Given the description of an element on the screen output the (x, y) to click on. 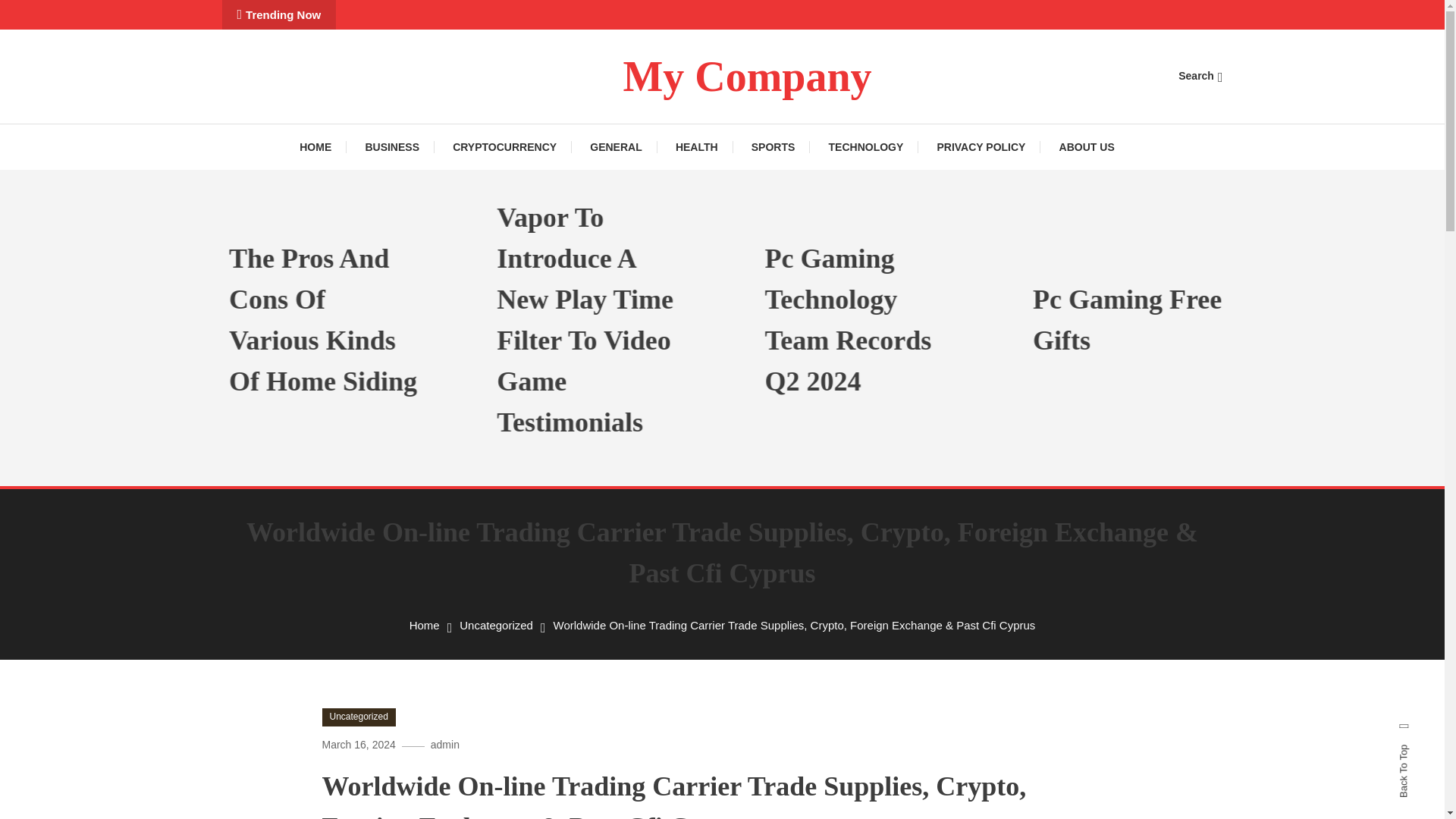
ABOUT US (1086, 146)
HEALTH (697, 146)
Home (424, 625)
GENERAL (615, 146)
BUSINESS (391, 146)
admin (445, 744)
Uncategorized (357, 717)
Uncategorized (496, 625)
My Company (746, 76)
Pc Gaming Technology Team Records Q2 2024 (911, 320)
